Given the description of an element on the screen output the (x, y) to click on. 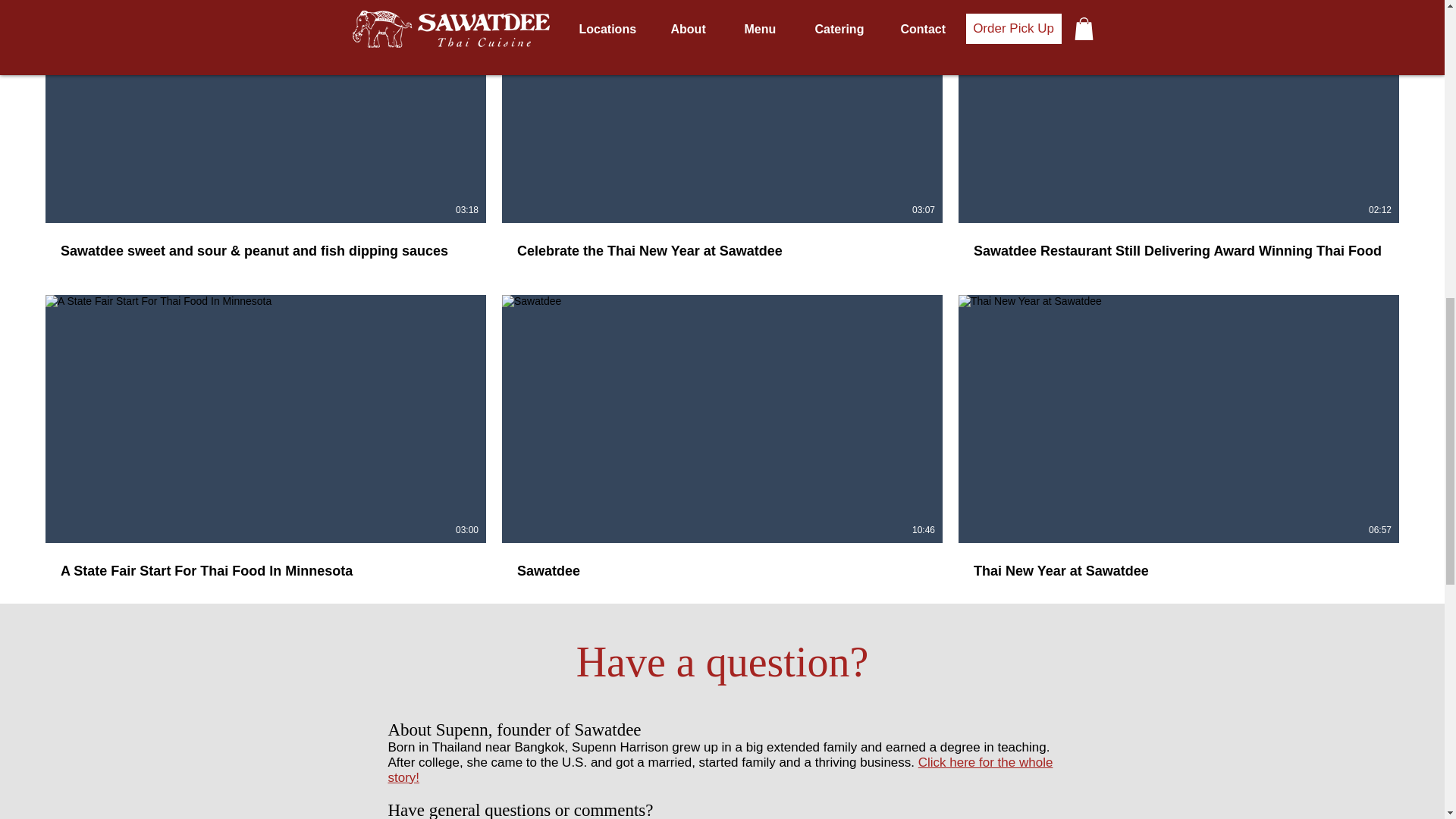
A State Fair Start For Thai Food In Minnesota (265, 570)
Thai New Year at Sawatdee (1179, 570)
Sawatdee Restaurant Still Delivering Award Winning Thai Food (1178, 241)
A State Fair Start For Thai Food In Minnesota (265, 561)
Celebrate the Thai New Year at Sawatdee (721, 250)
Thai New Year at Sawatdee (1178, 561)
Click here for the whole story! (720, 769)
Sawatdee (721, 570)
Celebrate the Thai New Year at Sawatdee (722, 241)
Sawatdee Restaurant Still Delivering Award Winning Thai Food (1179, 250)
Sawatdee (722, 561)
